Given the description of an element on the screen output the (x, y) to click on. 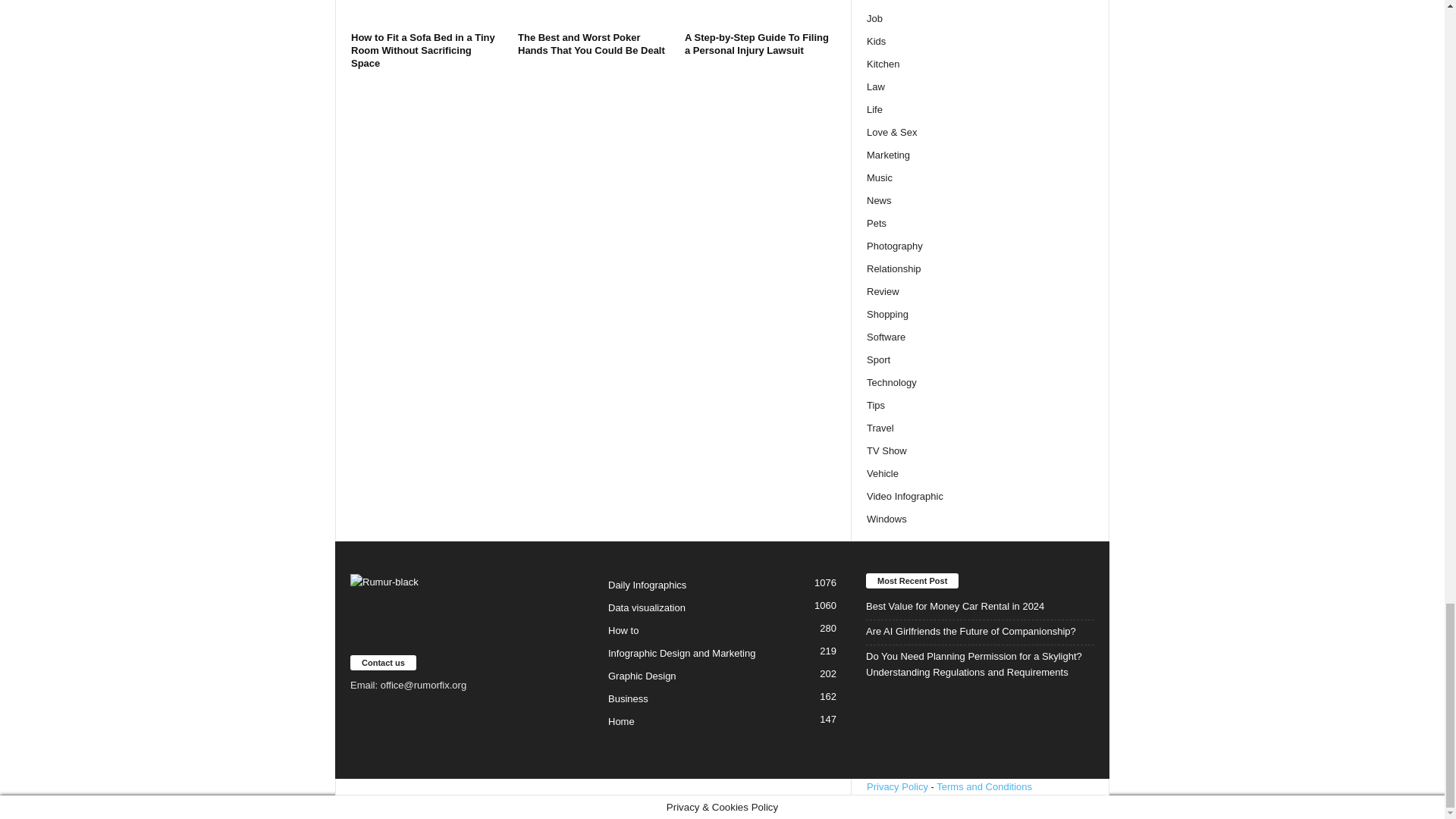
A Step-by-Step Guide To Filing a Personal Injury Lawsuit (759, 13)
A Step-by-Step Guide To Filing a Personal Injury Lawsuit (756, 43)
The Best and Worst Poker Hands That You Could Be Dealt (591, 43)
The Best and Worst Poker Hands That You Could Be Dealt (593, 13)
